Given the description of an element on the screen output the (x, y) to click on. 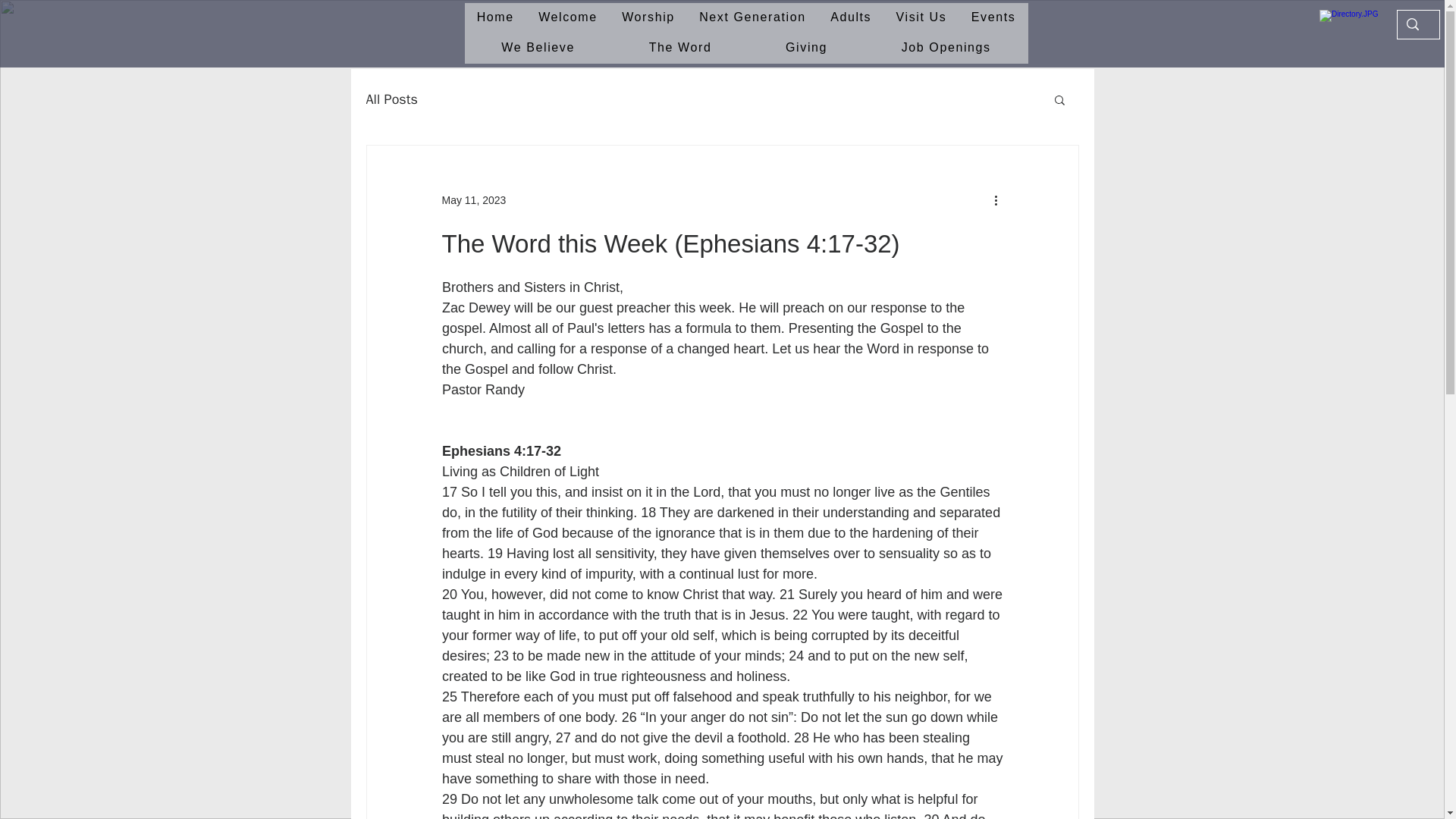
All Posts (390, 99)
Job Openings (945, 48)
Giving (806, 48)
Events (993, 18)
Worship (648, 18)
Click for church directory (1353, 27)
Next Generation (752, 18)
Welcome (567, 18)
Adults (850, 18)
Visit Us (920, 18)
